Given the description of an element on the screen output the (x, y) to click on. 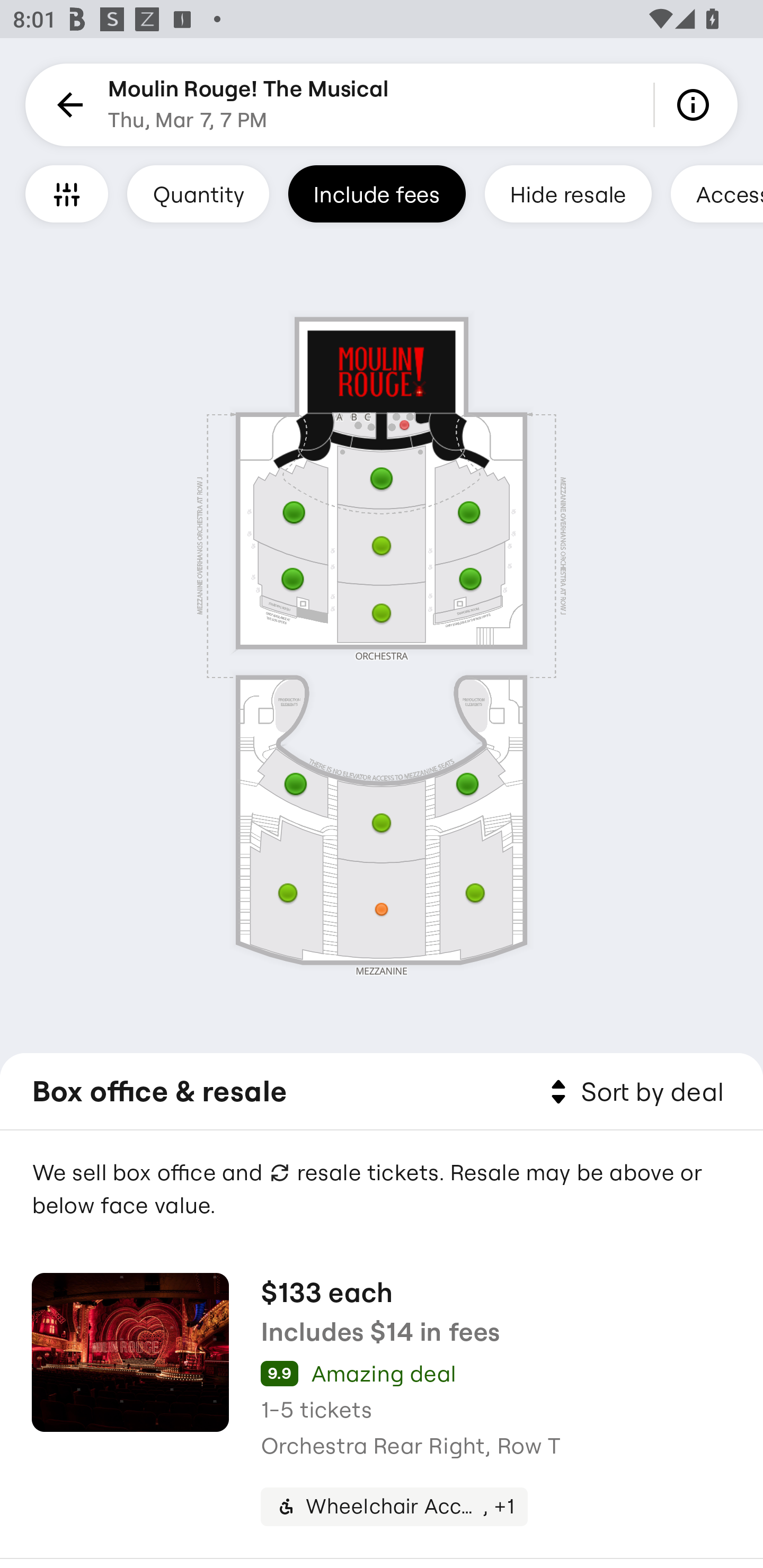
Back (66, 104)
Moulin Rouge! The Musical Thu, Mar 7, 7 PM (248, 104)
Info (695, 104)
Filters and Accessible Seating (66, 193)
Quantity (198, 193)
Include fees (376, 193)
Hide resale (567, 193)
Sort by deal (633, 1091)
